Given the description of an element on the screen output the (x, y) to click on. 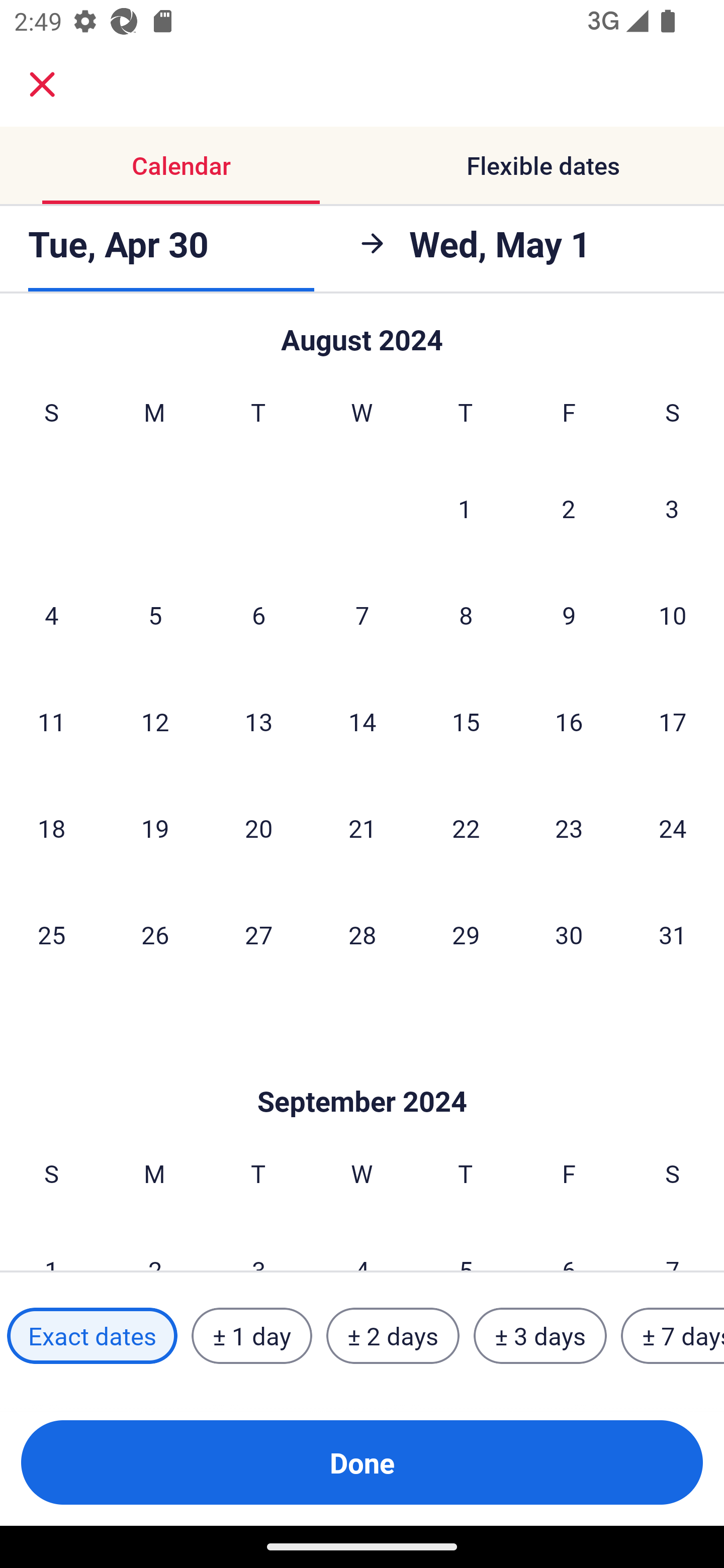
close. (42, 84)
Flexible dates (542, 164)
1 Thursday, August 1, 2024 (464, 507)
2 Friday, August 2, 2024 (568, 507)
3 Saturday, August 3, 2024 (672, 507)
4 Sunday, August 4, 2024 (51, 614)
5 Monday, August 5, 2024 (155, 614)
6 Tuesday, August 6, 2024 (258, 614)
7 Wednesday, August 7, 2024 (362, 614)
8 Thursday, August 8, 2024 (465, 614)
9 Friday, August 9, 2024 (569, 614)
10 Saturday, August 10, 2024 (672, 614)
11 Sunday, August 11, 2024 (51, 721)
12 Monday, August 12, 2024 (155, 721)
13 Tuesday, August 13, 2024 (258, 721)
14 Wednesday, August 14, 2024 (362, 721)
15 Thursday, August 15, 2024 (465, 721)
16 Friday, August 16, 2024 (569, 721)
17 Saturday, August 17, 2024 (672, 721)
18 Sunday, August 18, 2024 (51, 827)
19 Monday, August 19, 2024 (155, 827)
20 Tuesday, August 20, 2024 (258, 827)
21 Wednesday, August 21, 2024 (362, 827)
22 Thursday, August 22, 2024 (465, 827)
23 Friday, August 23, 2024 (569, 827)
24 Saturday, August 24, 2024 (672, 827)
25 Sunday, August 25, 2024 (51, 934)
26 Monday, August 26, 2024 (155, 934)
27 Tuesday, August 27, 2024 (258, 934)
28 Wednesday, August 28, 2024 (362, 934)
29 Thursday, August 29, 2024 (465, 934)
30 Friday, August 30, 2024 (569, 934)
31 Saturday, August 31, 2024 (672, 934)
Skip to Done (362, 1070)
Exact dates (92, 1335)
± 1 day (251, 1335)
± 2 days (392, 1335)
± 3 days (539, 1335)
± 7 days (672, 1335)
Done (361, 1462)
